Given the description of an element on the screen output the (x, y) to click on. 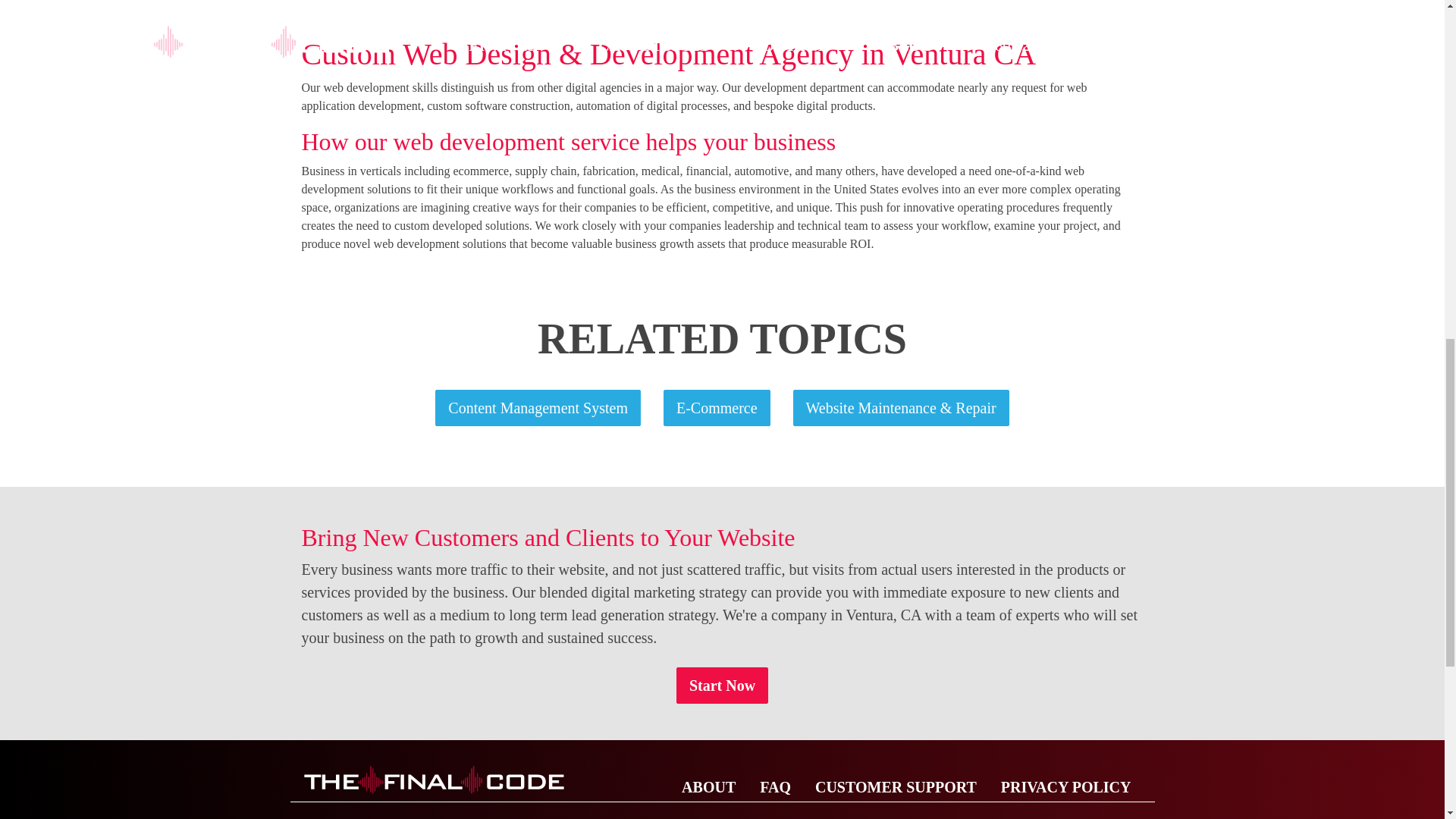
Content Management System (537, 407)
eCommerce (716, 407)
Become a client (722, 685)
